Given the description of an element on the screen output the (x, y) to click on. 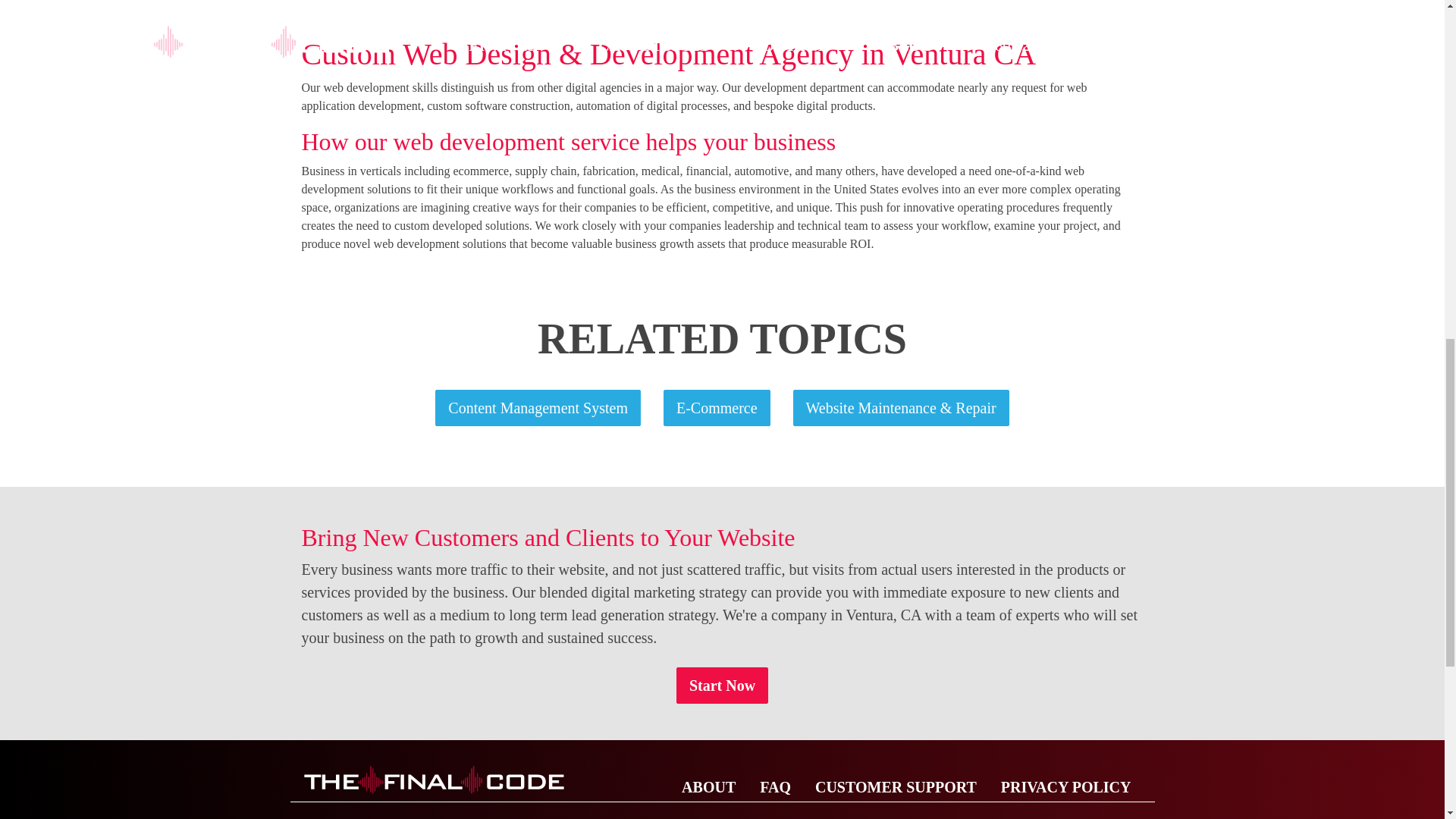
Content Management System (537, 407)
eCommerce (716, 407)
Become a client (722, 685)
